Given the description of an element on the screen output the (x, y) to click on. 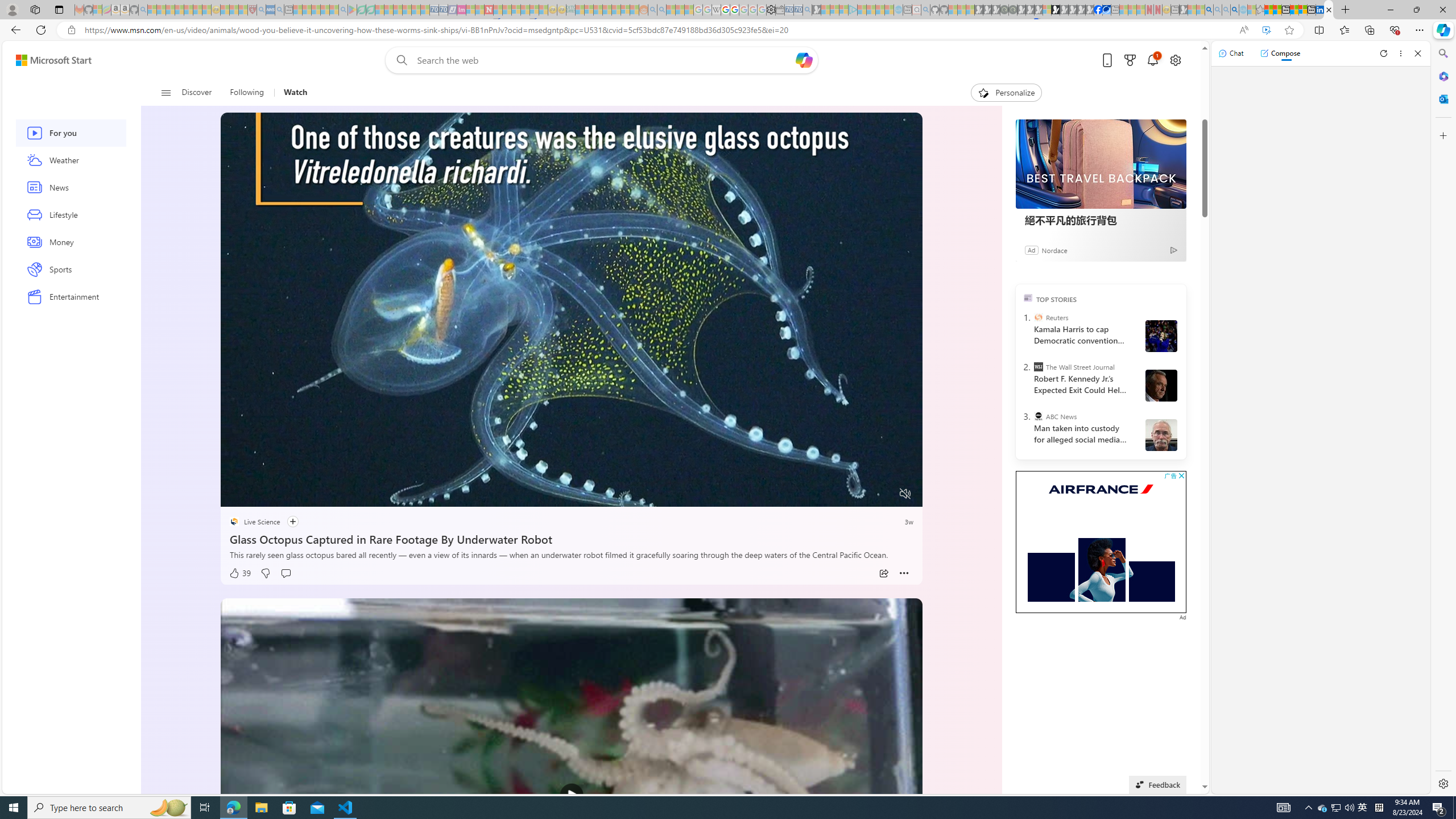
The Wall Street Journal (1037, 366)
Aberdeen, Hong Kong SAR weather forecast | Microsoft Weather (1277, 9)
Bing Real Estate - Home sales and rental listings - Sleeping (806, 9)
Play Video (571, 794)
Local - MSN - Sleeping (242, 9)
